Given the description of an element on the screen output the (x, y) to click on. 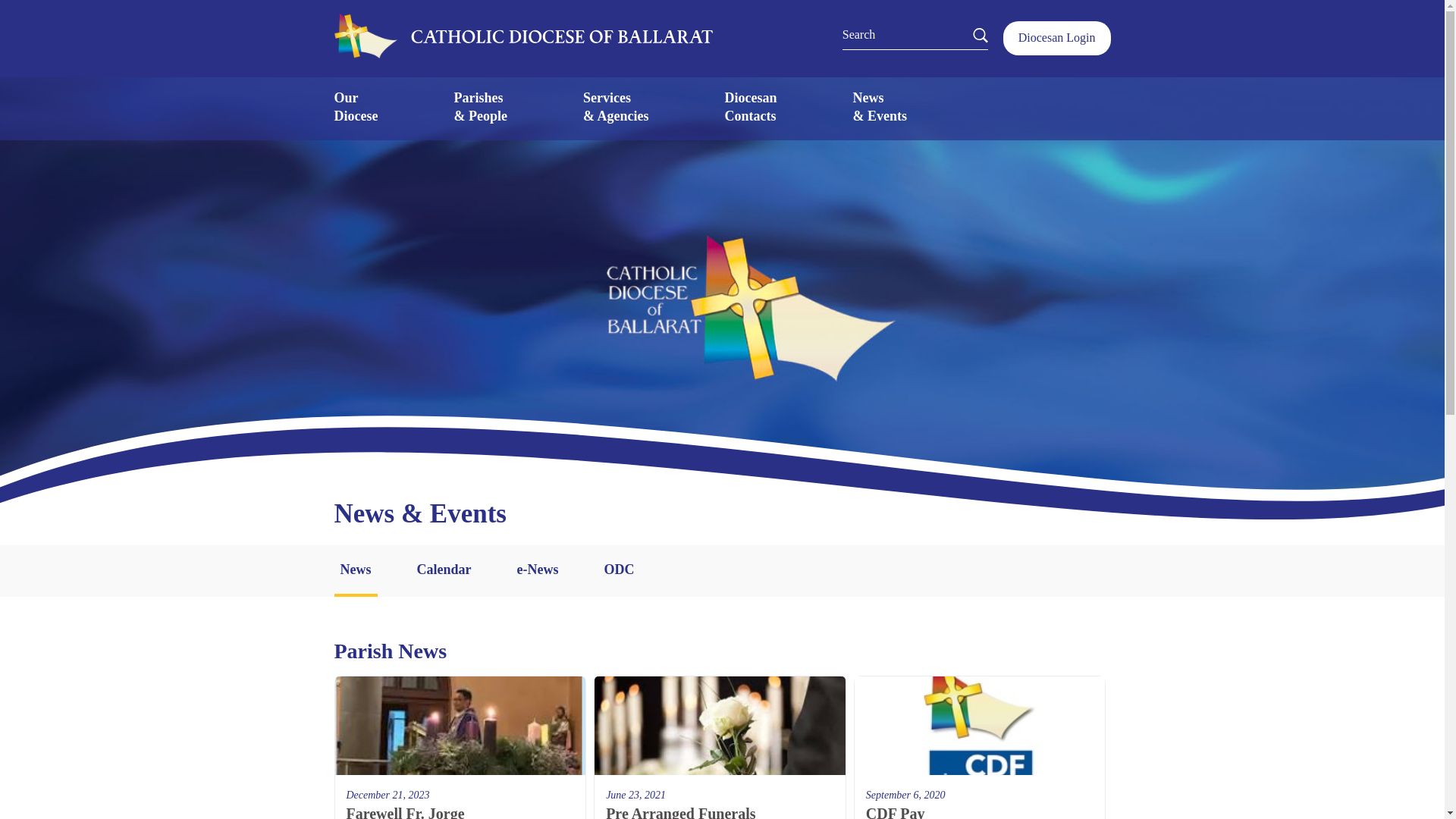
e-News (537, 571)
Calendar (443, 571)
Submit (17, 11)
Diocesan Login (355, 105)
